Given the description of an element on the screen output the (x, y) to click on. 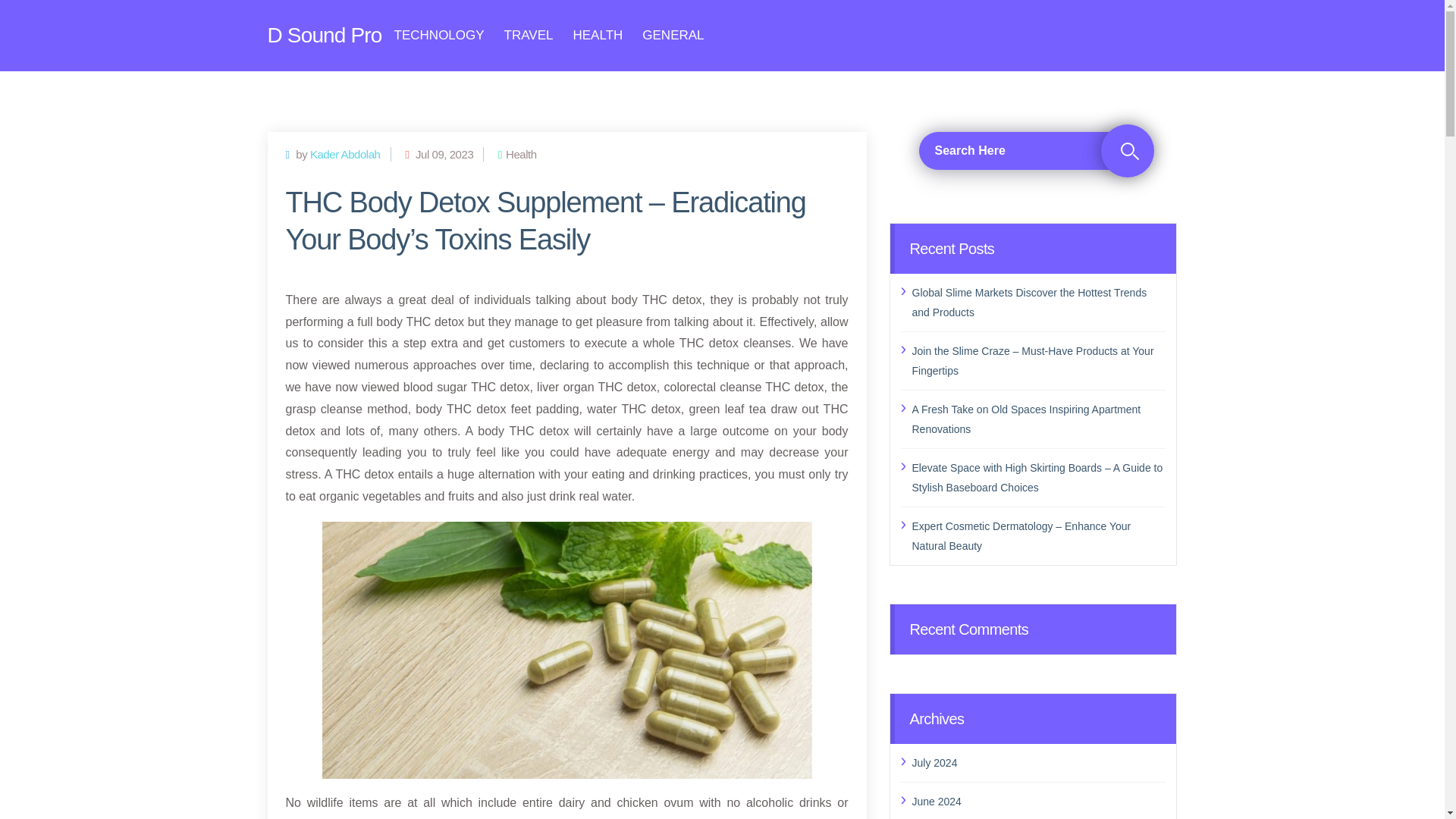
Kader Abdolah (345, 153)
D Sound Pro (323, 35)
HEALTH (597, 35)
A Fresh Take on Old Spaces Inspiring Apartment Renovations (1038, 418)
TECHNOLOGY (439, 35)
GENERAL (672, 35)
June 2024 (1038, 801)
July 2024 (1038, 762)
TRAVEL (528, 35)
